Given the description of an element on the screen output the (x, y) to click on. 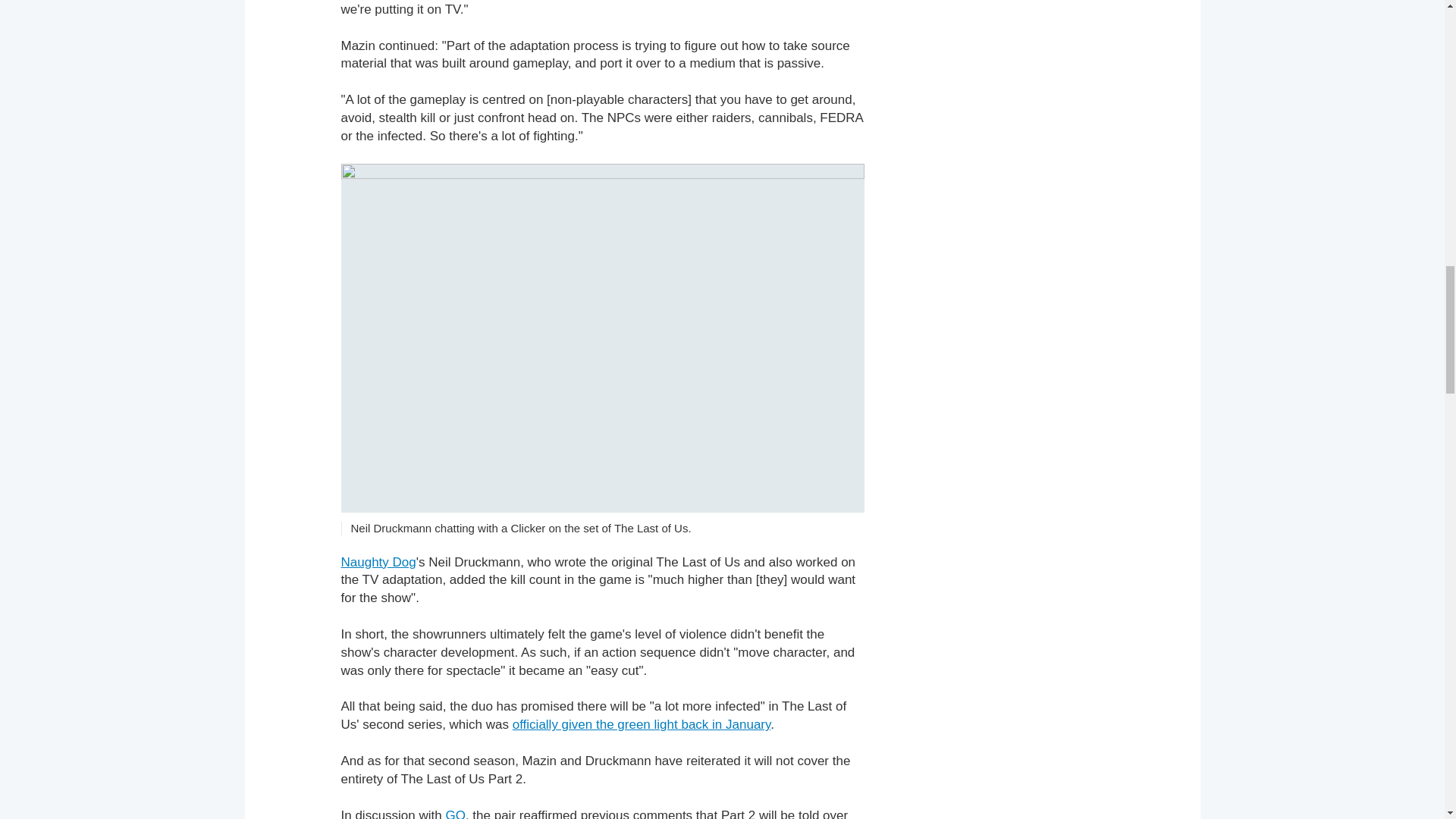
GQ (454, 813)
officially given the green light back in January (641, 724)
Naughty Dog (378, 562)
